Given the description of an element on the screen output the (x, y) to click on. 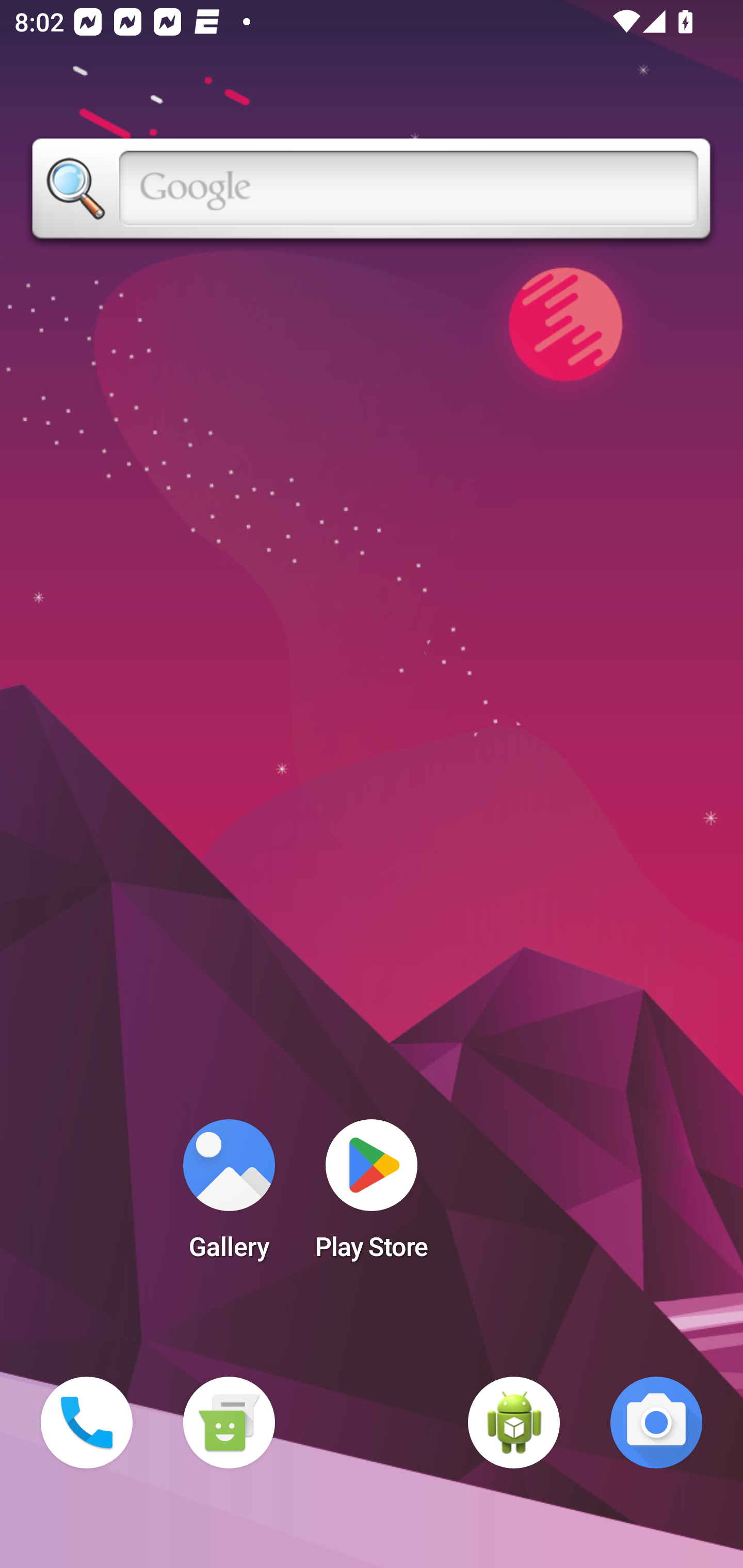
Gallery (228, 1195)
Play Store (371, 1195)
Phone (86, 1422)
Messaging (228, 1422)
WebView Browser Tester (513, 1422)
Camera (656, 1422)
